Given the description of an element on the screen output the (x, y) to click on. 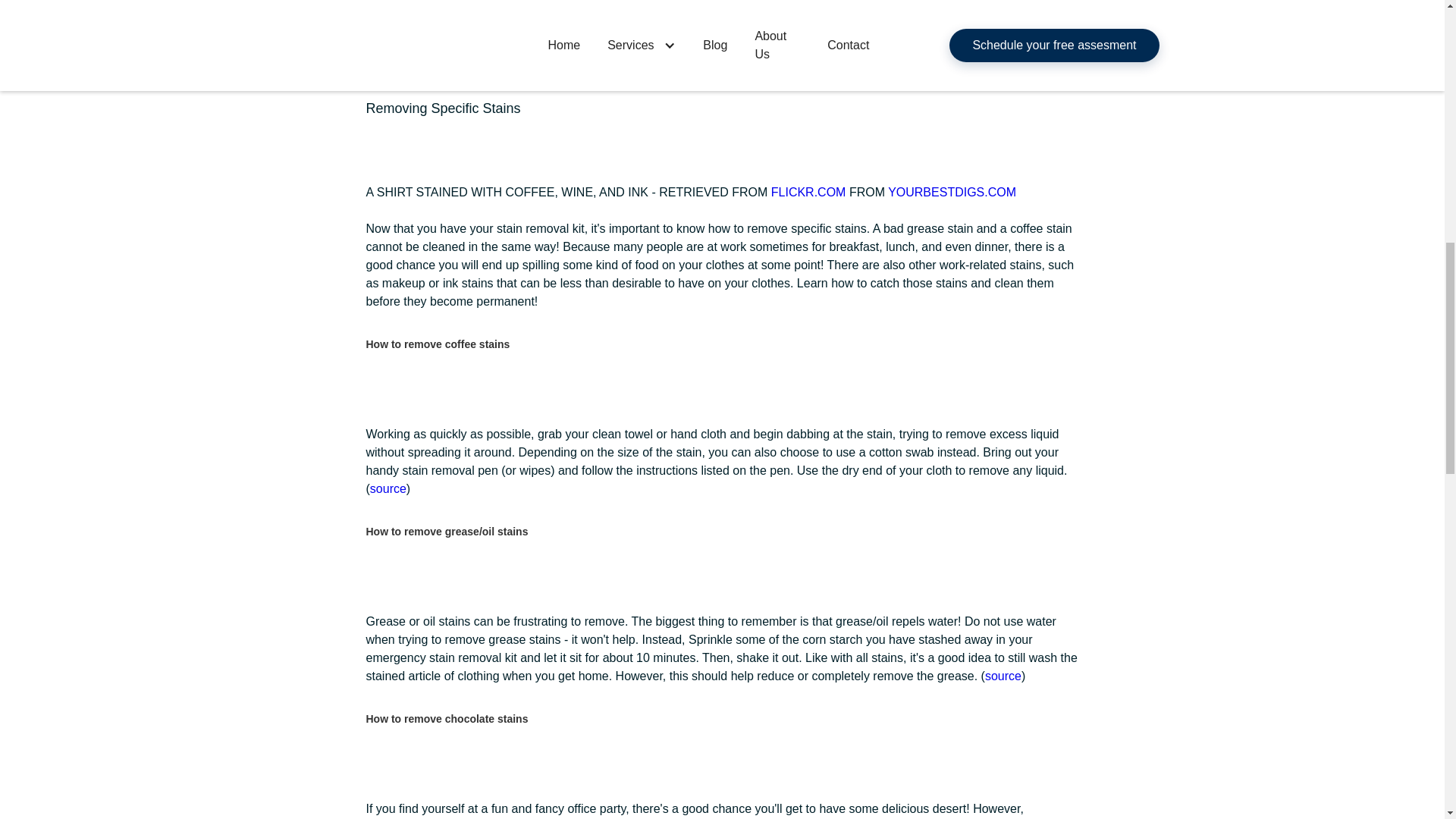
source (1003, 675)
source (387, 488)
FLICKR.COM (808, 192)
YOURBESTDIGS.COM (952, 192)
